Given the description of an element on the screen output the (x, y) to click on. 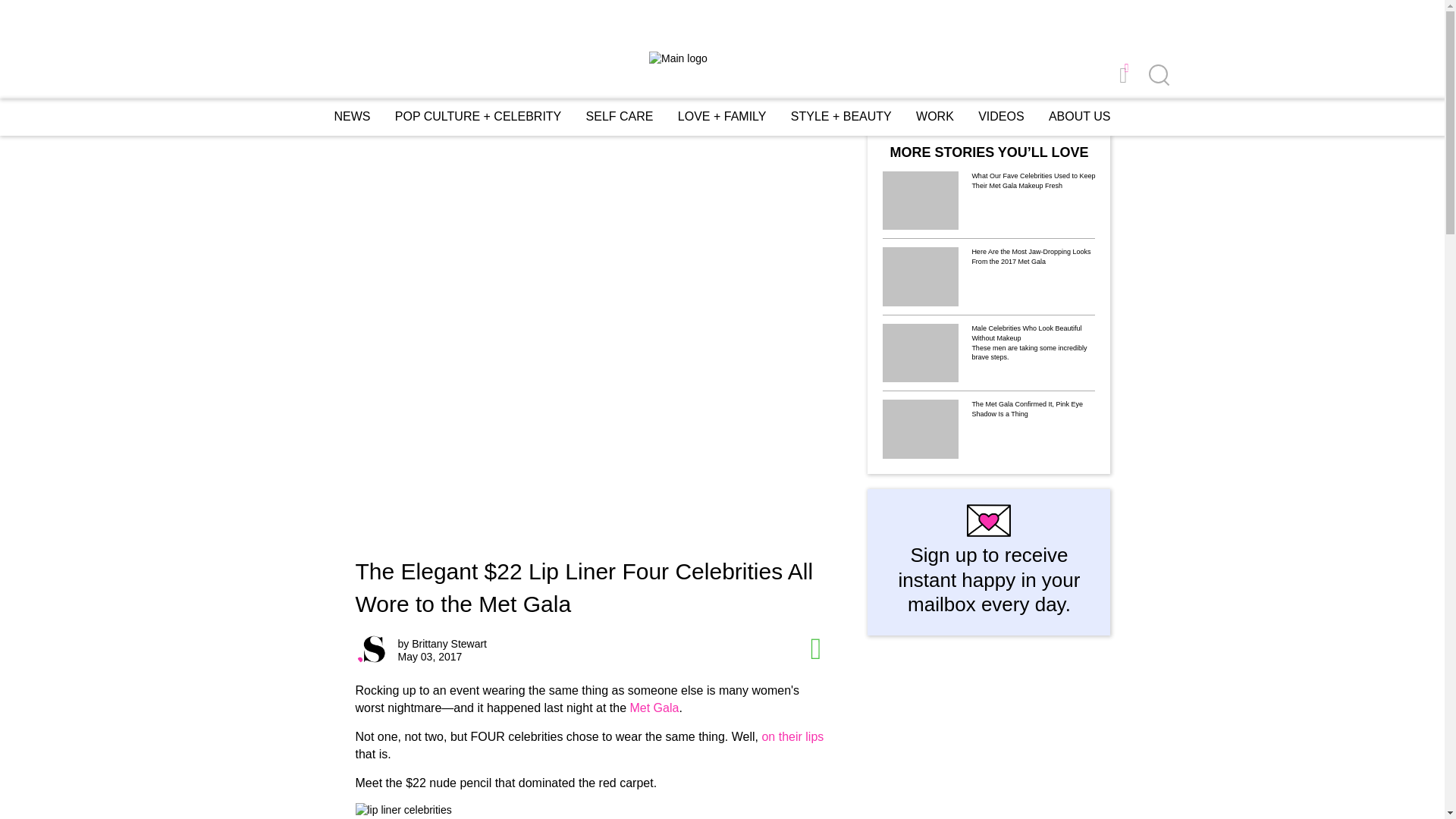
on their lips (792, 736)
Open Search Field. (1158, 75)
The Met Gala Confirmed It, Pink Eye Shadow Is a Thing (1032, 410)
VIDEOS (1000, 117)
NEWS (351, 115)
WORK (934, 115)
Met Gala (653, 707)
SELF CARE (619, 115)
ABOUT US (1079, 117)
